Given the description of an element on the screen output the (x, y) to click on. 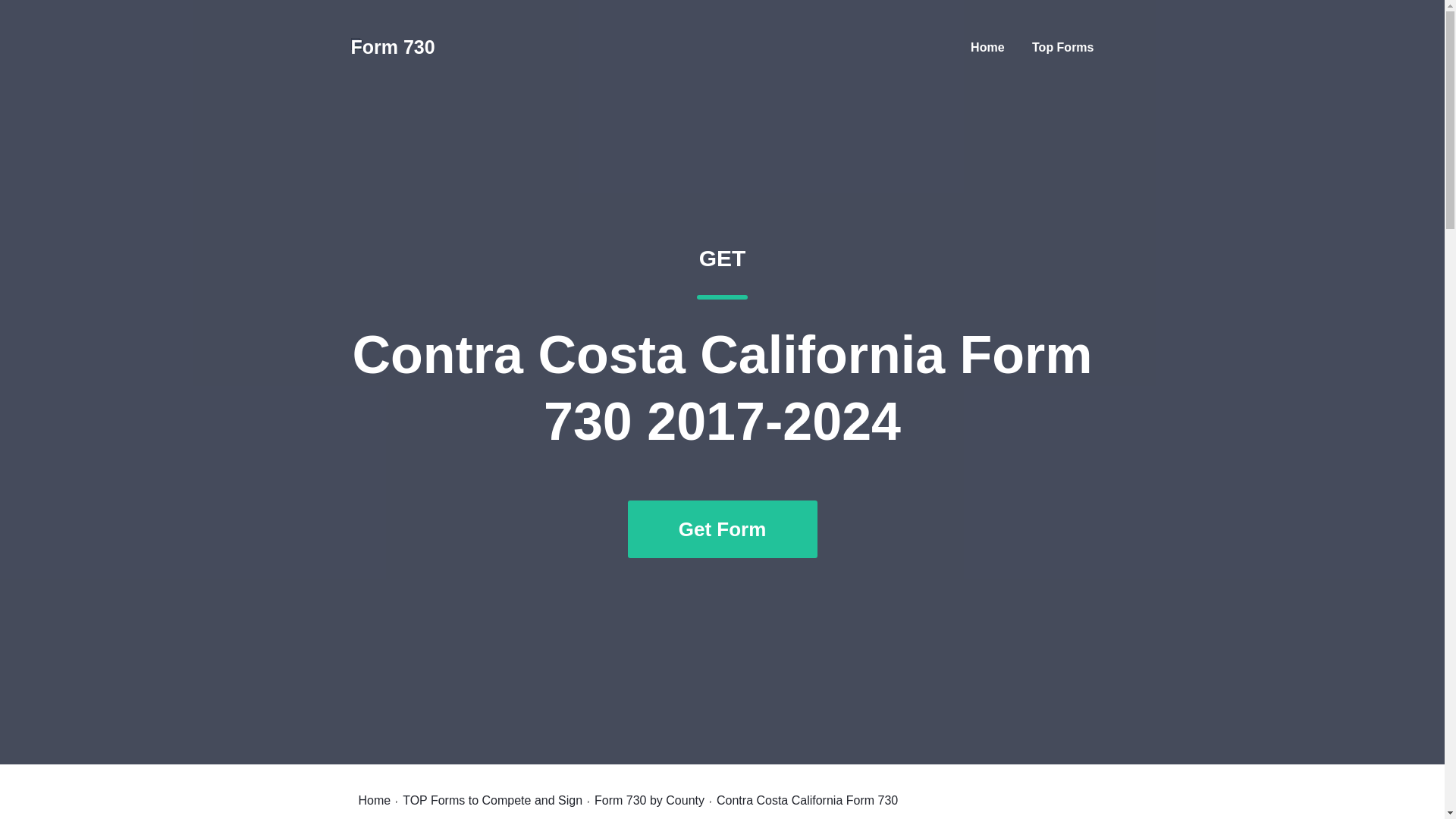
Home (374, 800)
Home (987, 47)
Form 730 by County (649, 800)
Top Forms (492, 800)
Form 730 (1062, 47)
